Given the description of an element on the screen output the (x, y) to click on. 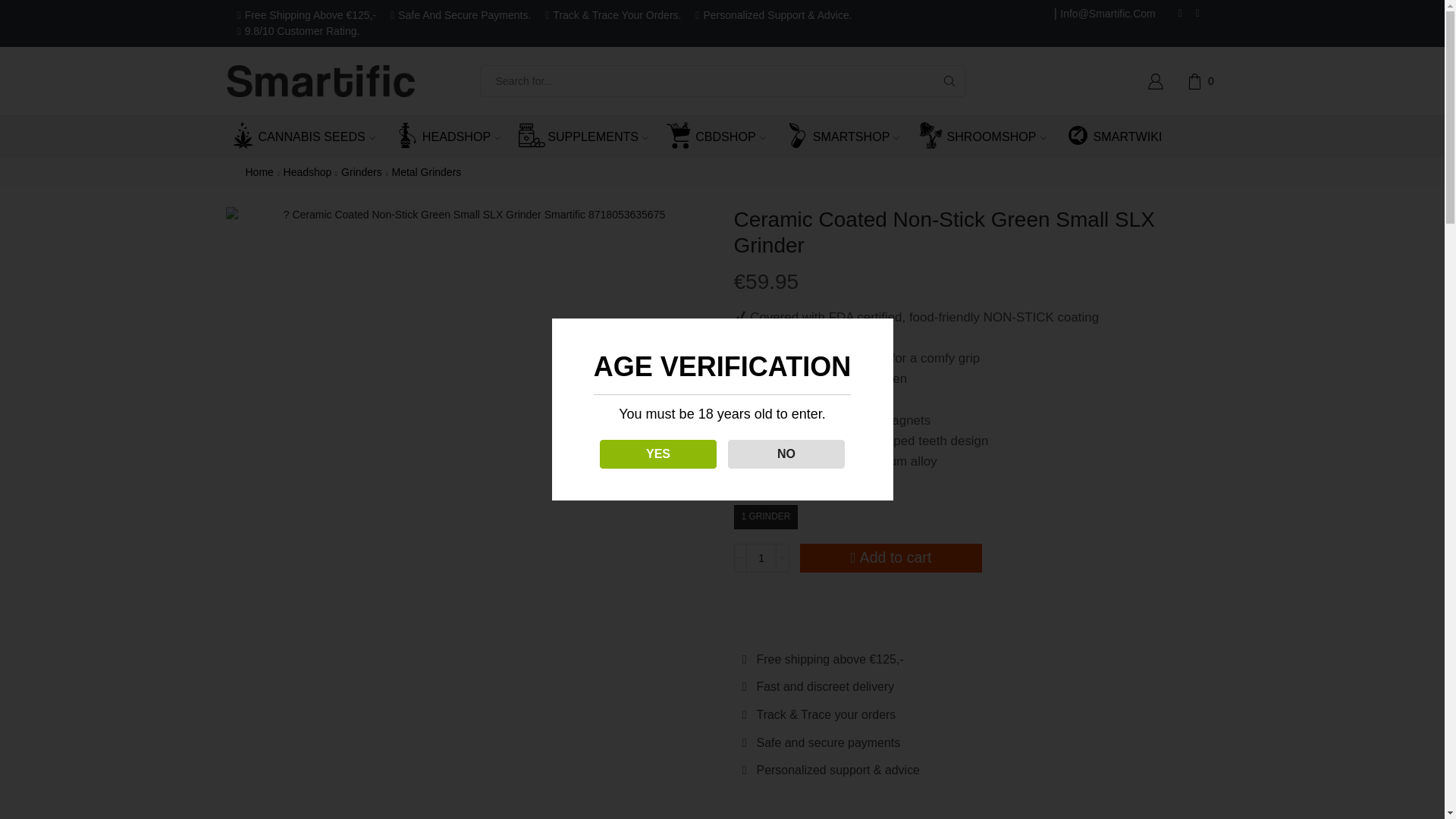
SUPPLEMENTS (592, 136)
Log in (1048, 329)
1 (761, 557)
SMARTSHOP (851, 136)
SMARTWIKI (1122, 136)
CANNABIS SEEDS (310, 136)
SHROOMSHOP (990, 136)
HEADSHOP (455, 136)
YES (637, 453)
